Given the description of an element on the screen output the (x, y) to click on. 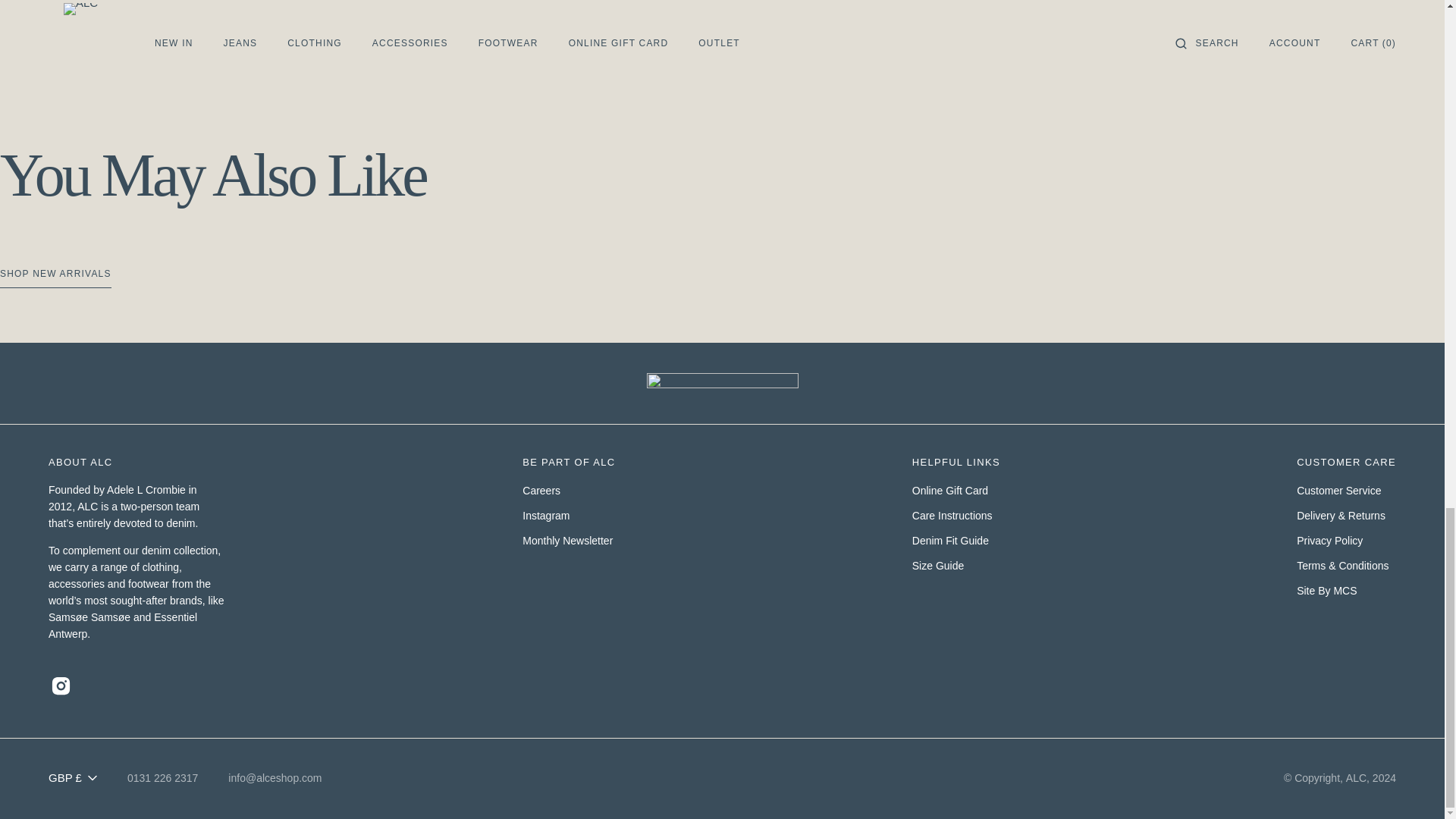
Home (62, 2)
